Given the description of an element on the screen output the (x, y) to click on. 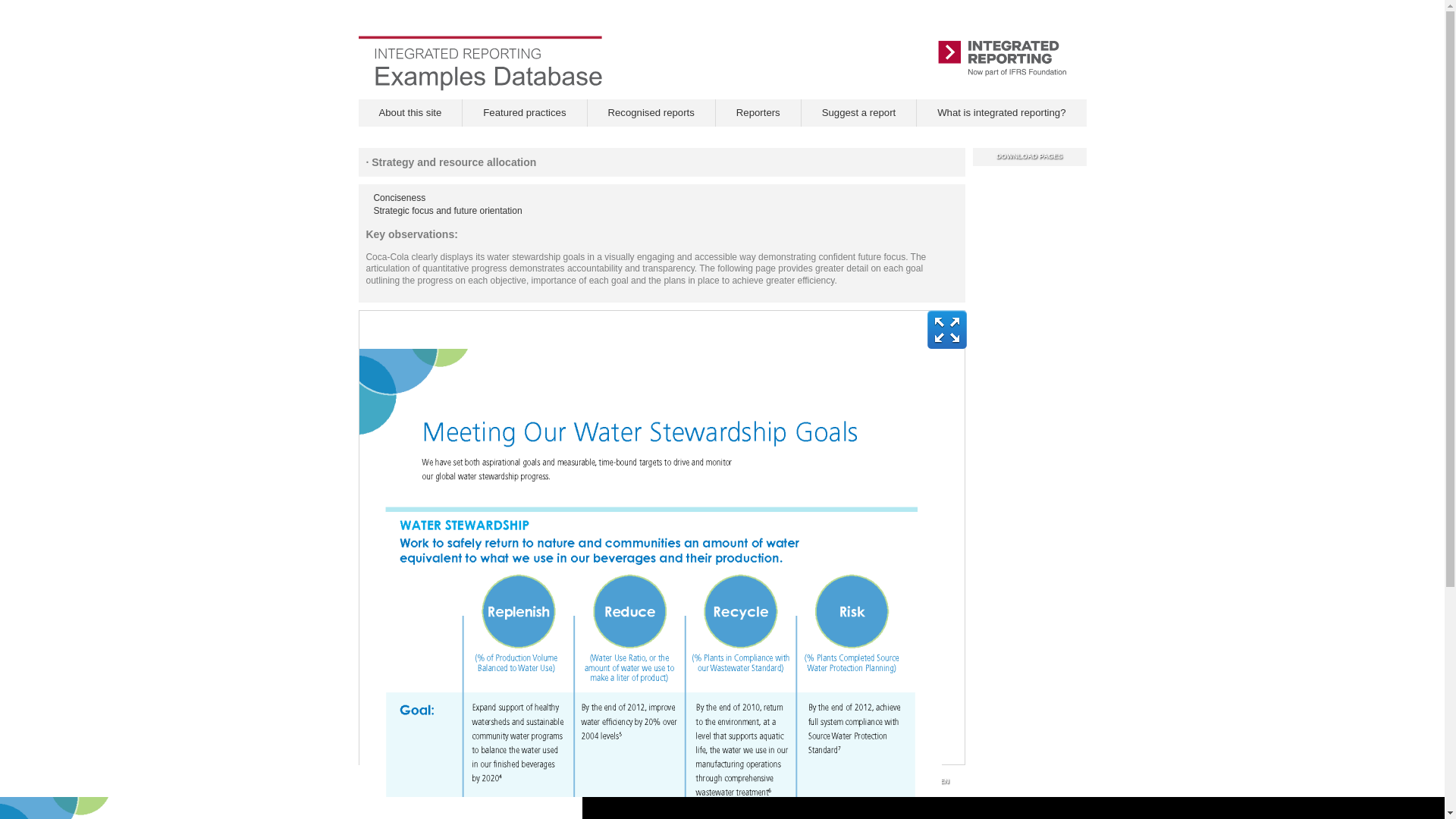
DOWNLOAD PAGES (1029, 156)
the PDF document will open in a new window (1029, 156)
Recognised reports (650, 112)
What is integrated reporting? (1001, 112)
Reporters (758, 112)
Suggest a report (858, 112)
Featured practices (524, 112)
VIEW FULL SCREEN (914, 780)
About this site (409, 112)
the page will open in a new window (1001, 112)
